Given the description of an element on the screen output the (x, y) to click on. 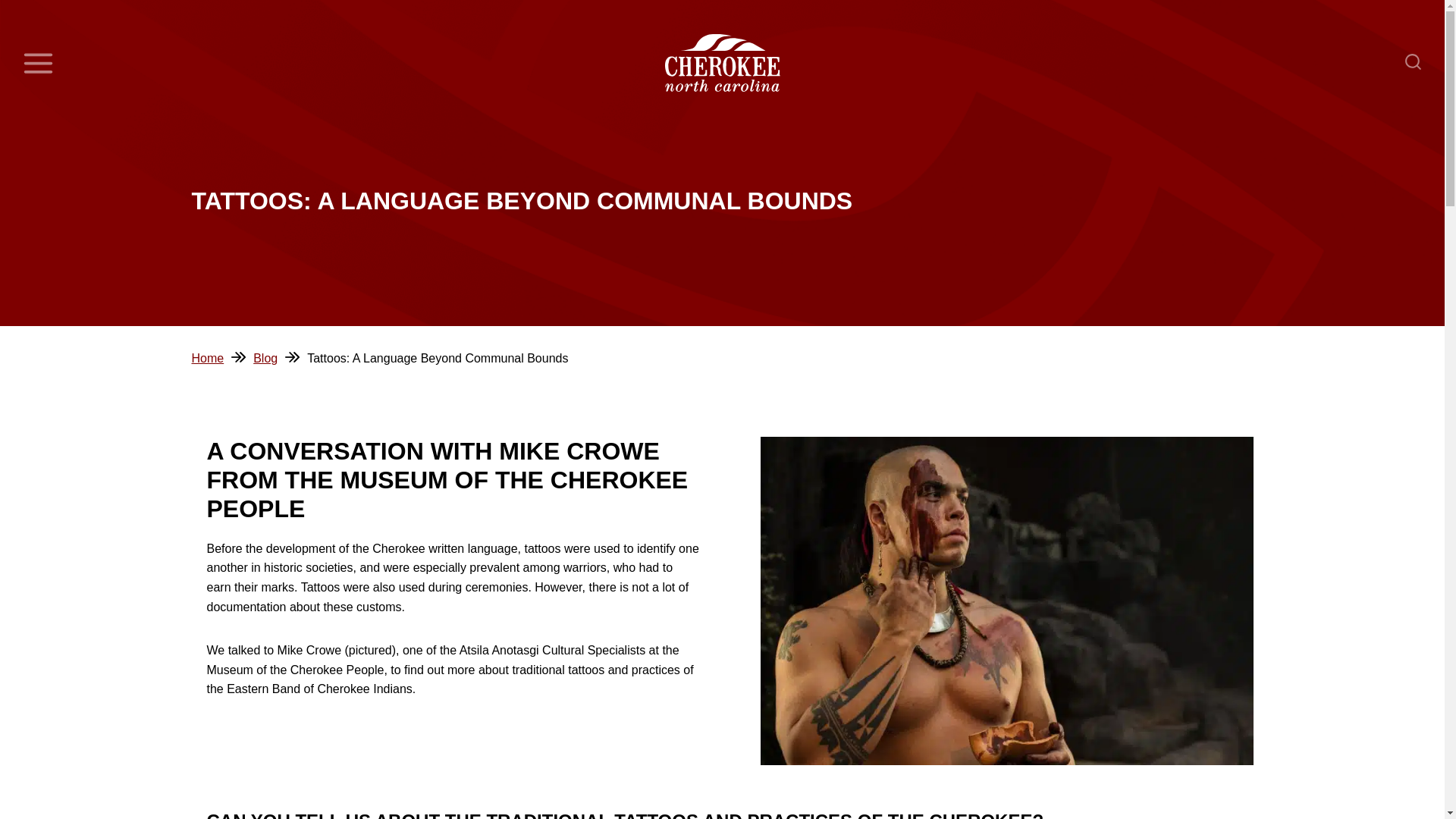
Main Menu (38, 62)
Blog (265, 358)
Home (207, 358)
